Given the description of an element on the screen output the (x, y) to click on. 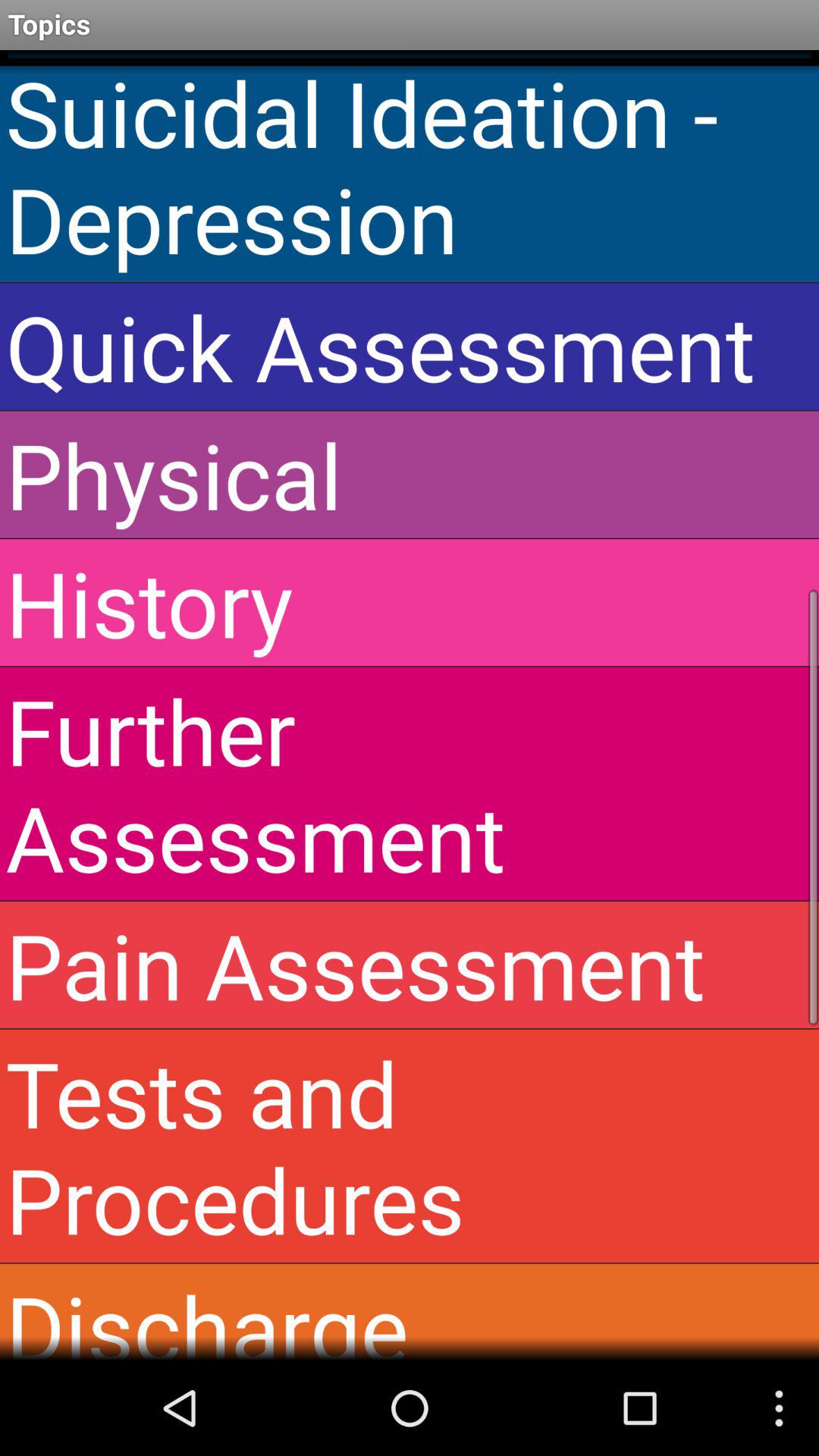
launch icon above discharge instruction app (409, 1145)
